Given the description of an element on the screen output the (x, y) to click on. 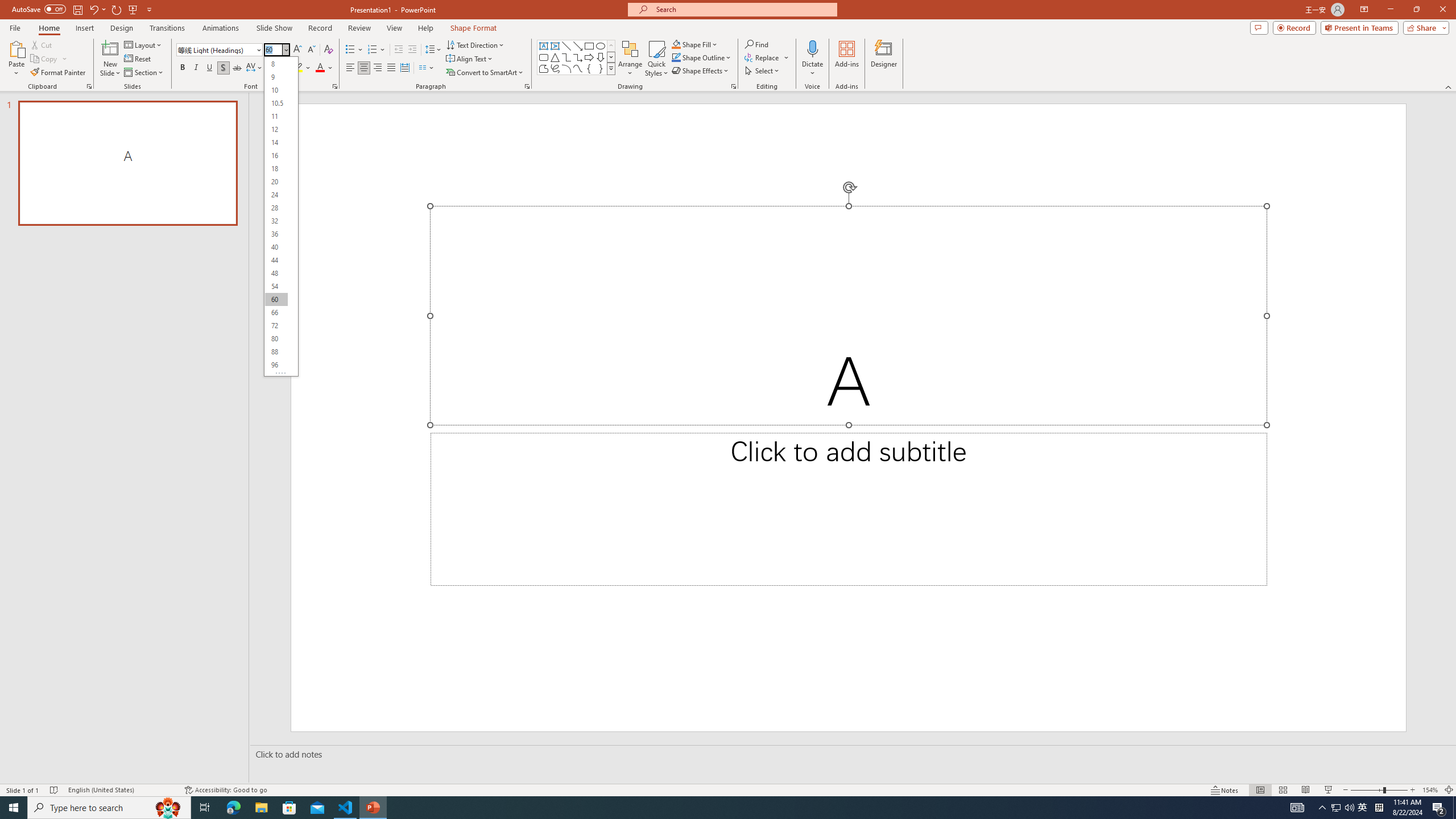
88 (276, 351)
Shape Outline Blue, Accent 1 (675, 56)
8 (276, 63)
Accessibility Checker Accessibility: Good to go (226, 790)
